Given the description of an element on the screen output the (x, y) to click on. 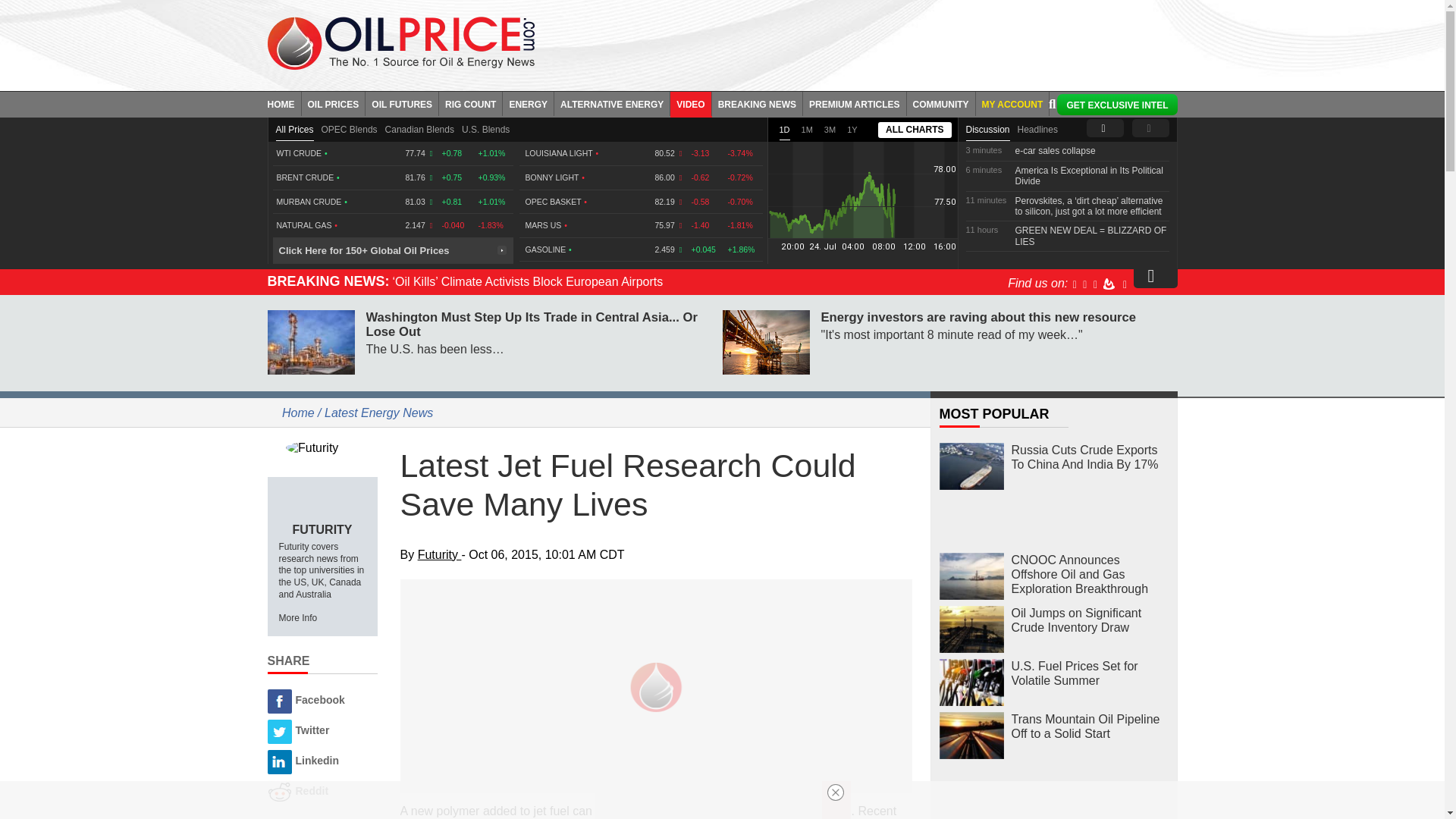
Oil prices - Oilprice.com (400, 42)
ENERGY (528, 103)
OIL FUTURES (402, 103)
COMMUNITY (941, 103)
ALTERNATIVE ENERGY (611, 103)
U.S. Fuel Prices Set for Volatile Summer (971, 682)
BREAKING NEWS (757, 103)
3rd party ad content (866, 41)
MY ACCOUNT (1012, 103)
VIDEO (690, 103)
PREMIUM ARTICLES (855, 103)
Futurity  (321, 447)
HOME (283, 103)
Oil Jumps on Significant Crude Inventory Draw (971, 629)
